Given the description of an element on the screen output the (x, y) to click on. 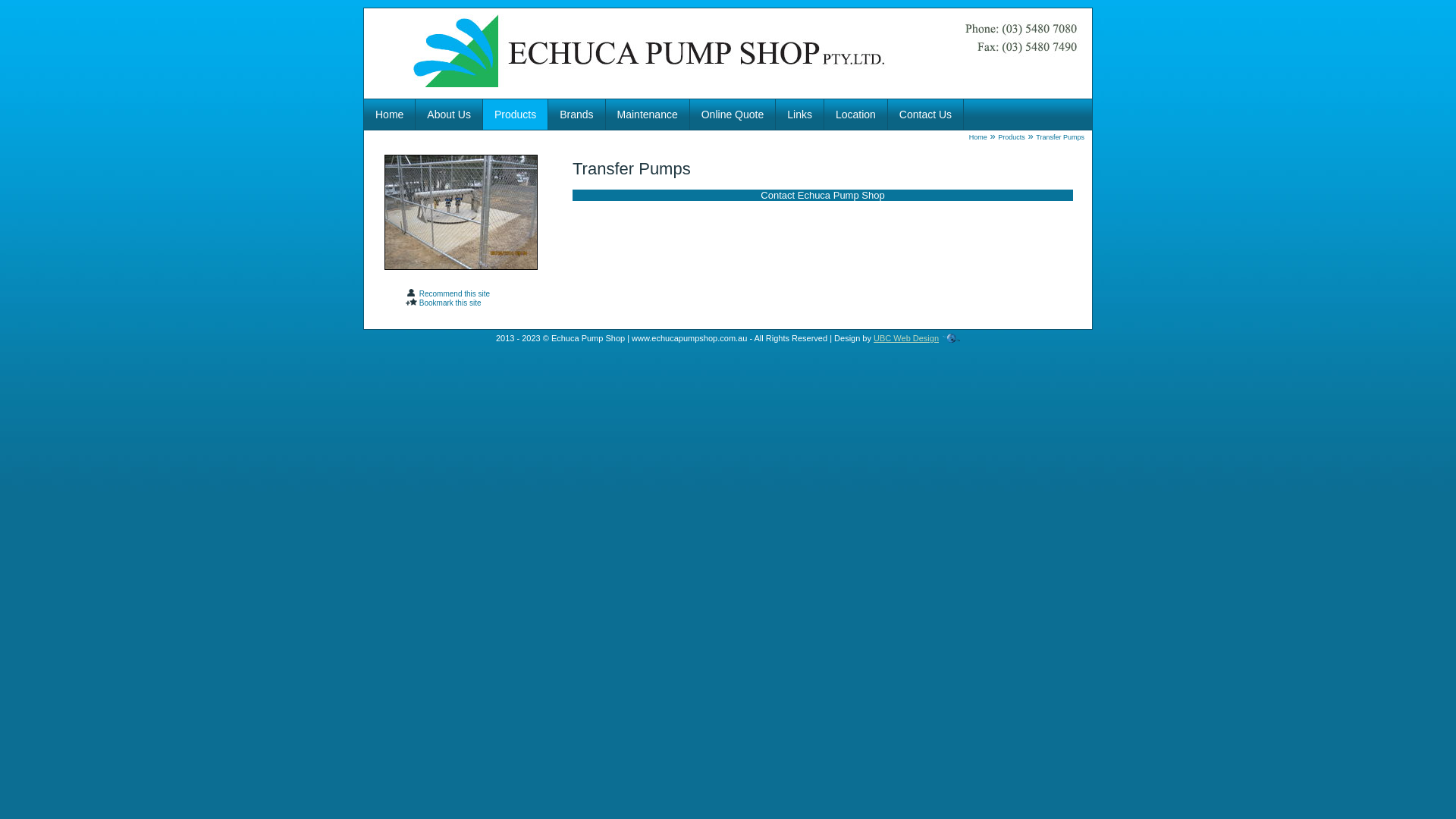
Links Element type: text (799, 114)
Products Element type: text (1011, 137)
Echuca Pump Shop Element type: hover (728, 53)
About Us Element type: text (448, 114)
Contact Us Element type: text (925, 114)
Location Element type: text (855, 114)
Echuca Pump Shop Element type: hover (459, 211)
Contact Echuca Pump Shop Element type: text (822, 194)
Online Quote Element type: text (732, 114)
Products Element type: text (515, 114)
Recommend this site Element type: text (447, 293)
Maintenance Element type: text (647, 114)
Home Element type: text (389, 114)
UBC Web Design Element type: text (905, 337)
Home Element type: text (978, 137)
Bookmark this site Element type: text (442, 302)
Transfer Pumps Element type: text (1059, 137)
Brands Element type: text (576, 114)
